Given the description of an element on the screen output the (x, y) to click on. 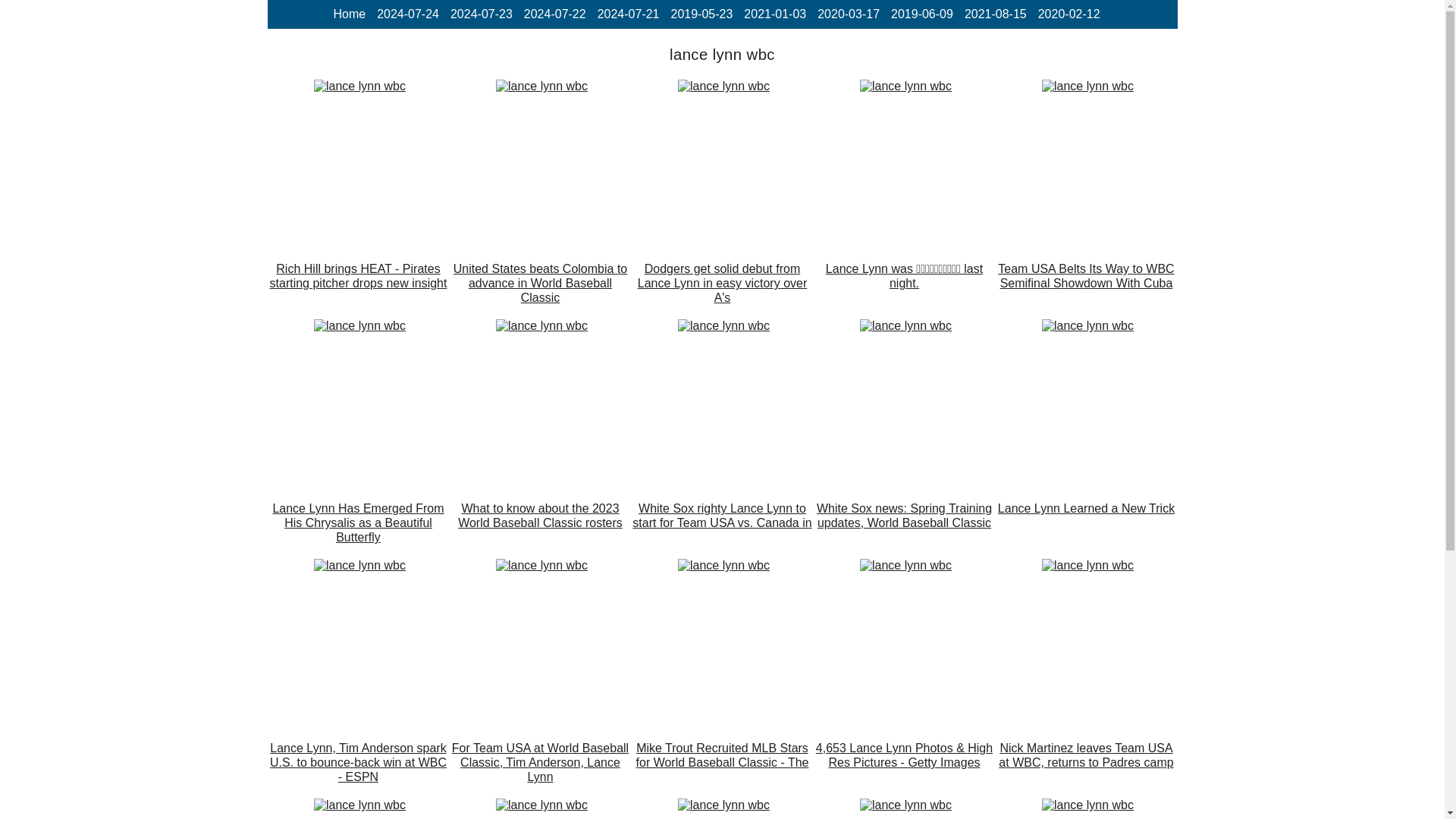
What to know about the 2023 World Baseball Classic rosters (540, 325)
2024-07-23 (480, 13)
lance lynn wbc (724, 86)
lance lynn wbc (542, 325)
lance lynn wbc (542, 86)
lance lynn wbc (360, 86)
2020-03-17 (847, 13)
2024-07-22 (555, 13)
